Given the description of an element on the screen output the (x, y) to click on. 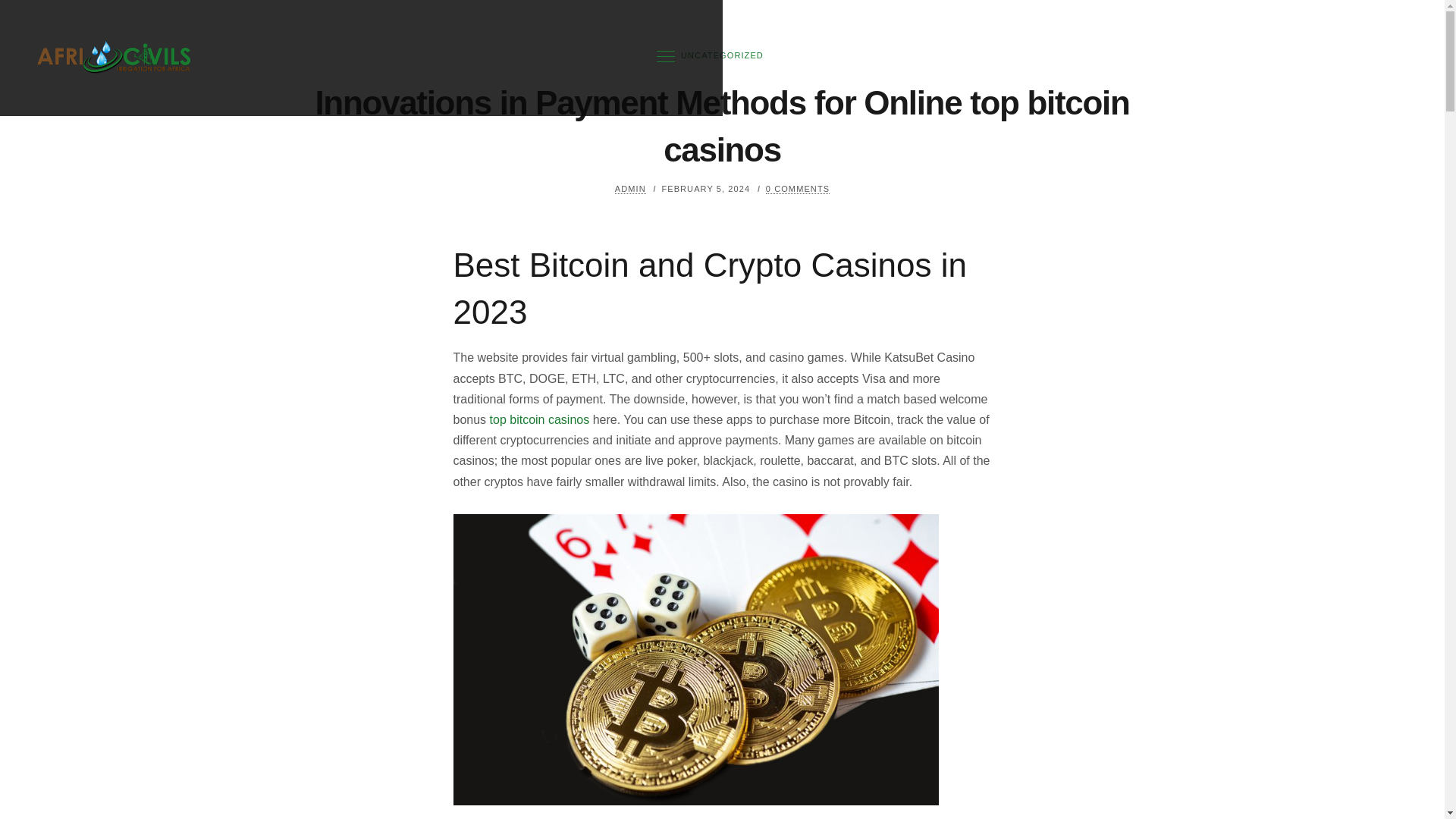
top bitcoin casinos (539, 419)
UNCATEGORIZED (721, 55)
0 COMMENTS (797, 189)
ADMIN (630, 189)
START A PROJECT WITH US (1332, 58)
